Given the description of an element on the screen output the (x, y) to click on. 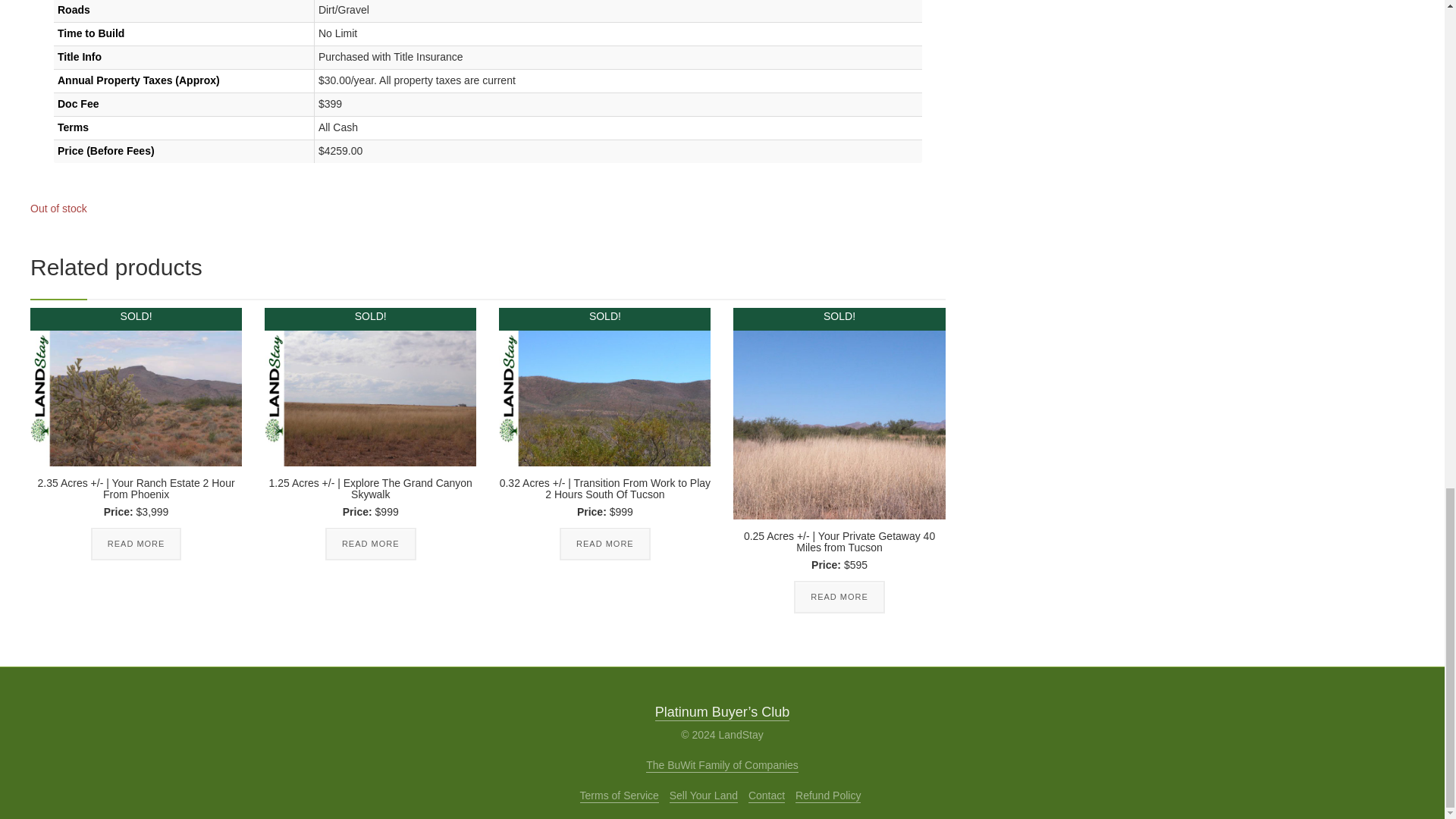
READ MORE (839, 597)
READ MORE (370, 544)
READ MORE (604, 544)
READ MORE (136, 544)
